Given the description of an element on the screen output the (x, y) to click on. 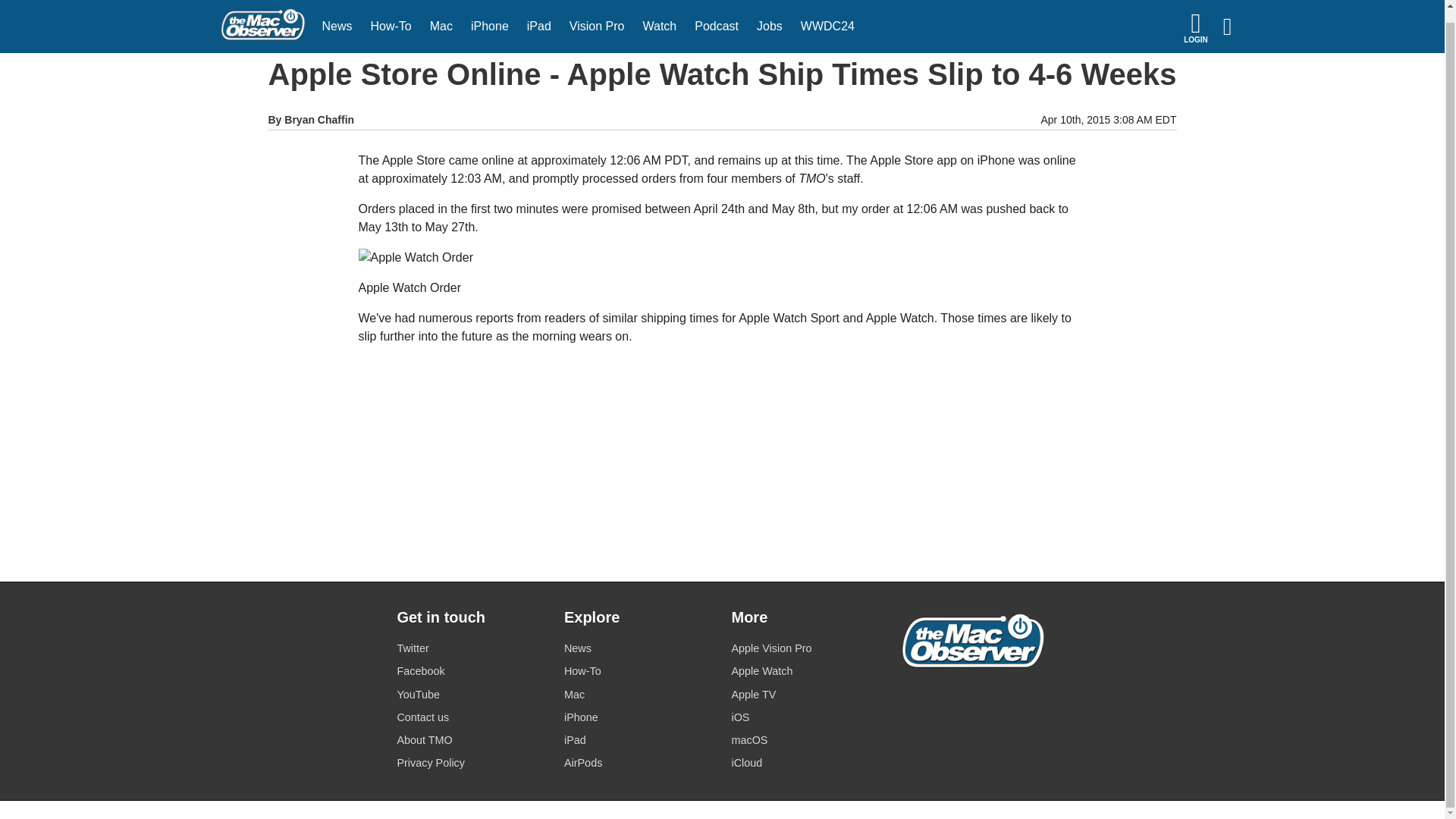
Vision Pro (596, 20)
iOS (805, 717)
Twitter (471, 648)
The Mac Observer (262, 20)
iPhone (489, 20)
Vision Pro (596, 20)
News (638, 648)
YouTube (471, 693)
About TMO (471, 740)
Mac (440, 20)
How-To (638, 670)
Mac (440, 20)
Watch (659, 20)
Facebook (471, 670)
iPhone (638, 717)
